Given the description of an element on the screen output the (x, y) to click on. 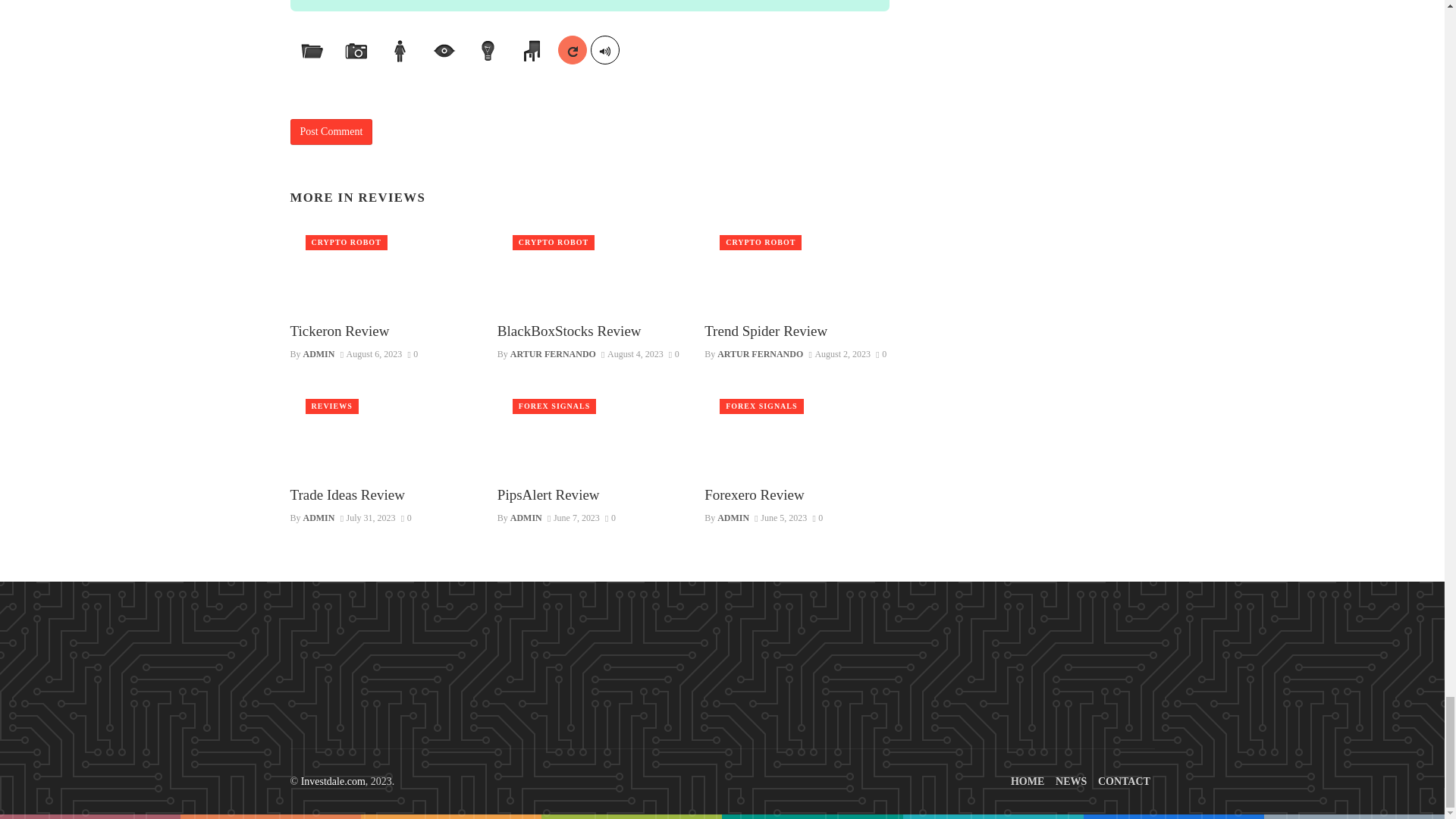
Post Comment (330, 131)
